Given the description of an element on the screen output the (x, y) to click on. 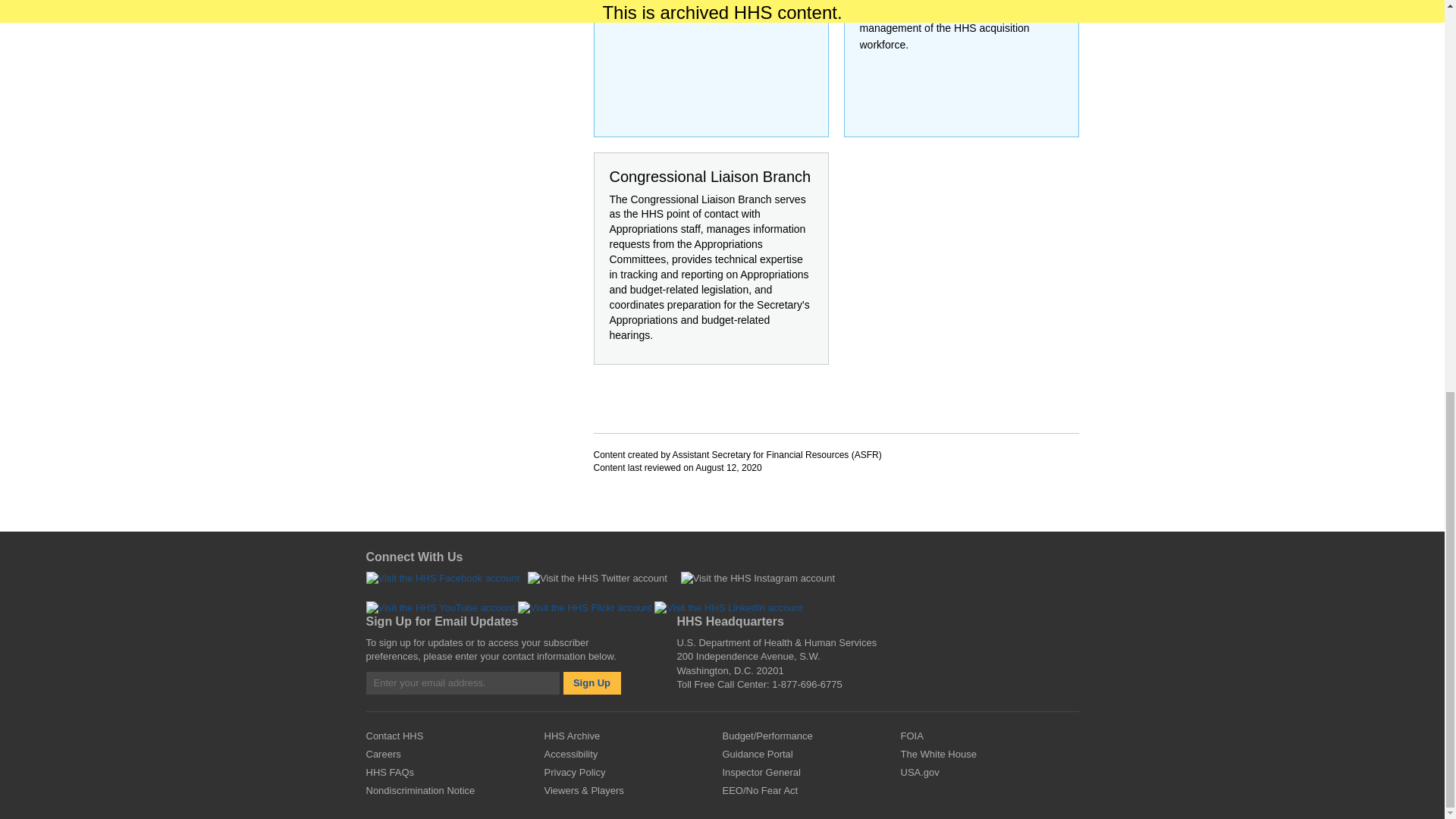
Visit the HHS YouTube account (440, 606)
Visit the HHS LinkedIn account (727, 606)
Visit the HHS Facebook account (442, 577)
Visit the HHS Twitter account (596, 577)
Visit the HHS Flickr account (585, 606)
Sign Up (591, 682)
Visit the HHS Instagram account (758, 577)
